Given the description of an element on the screen output the (x, y) to click on. 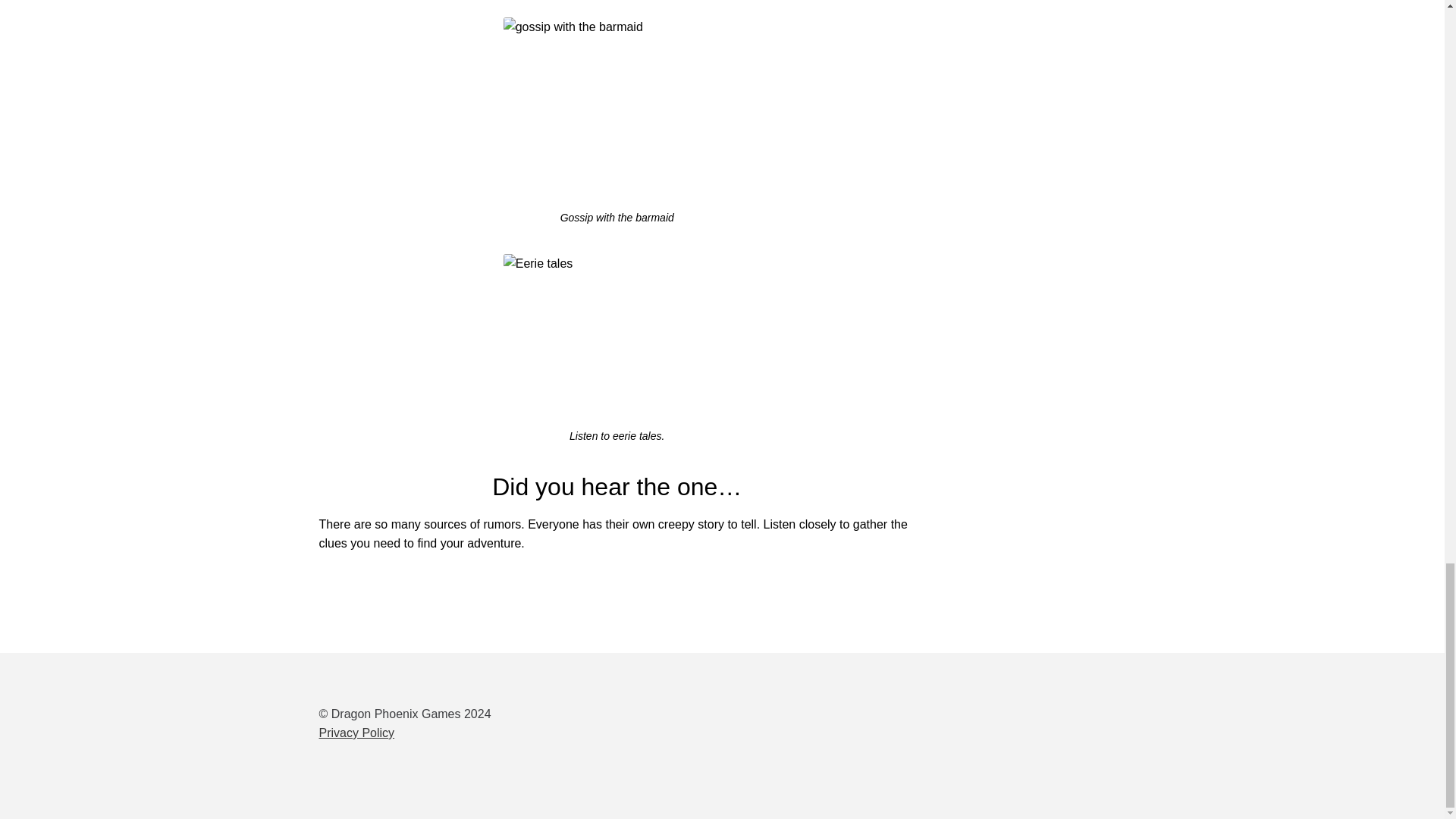
Privacy Policy (356, 732)
